Given the description of an element on the screen output the (x, y) to click on. 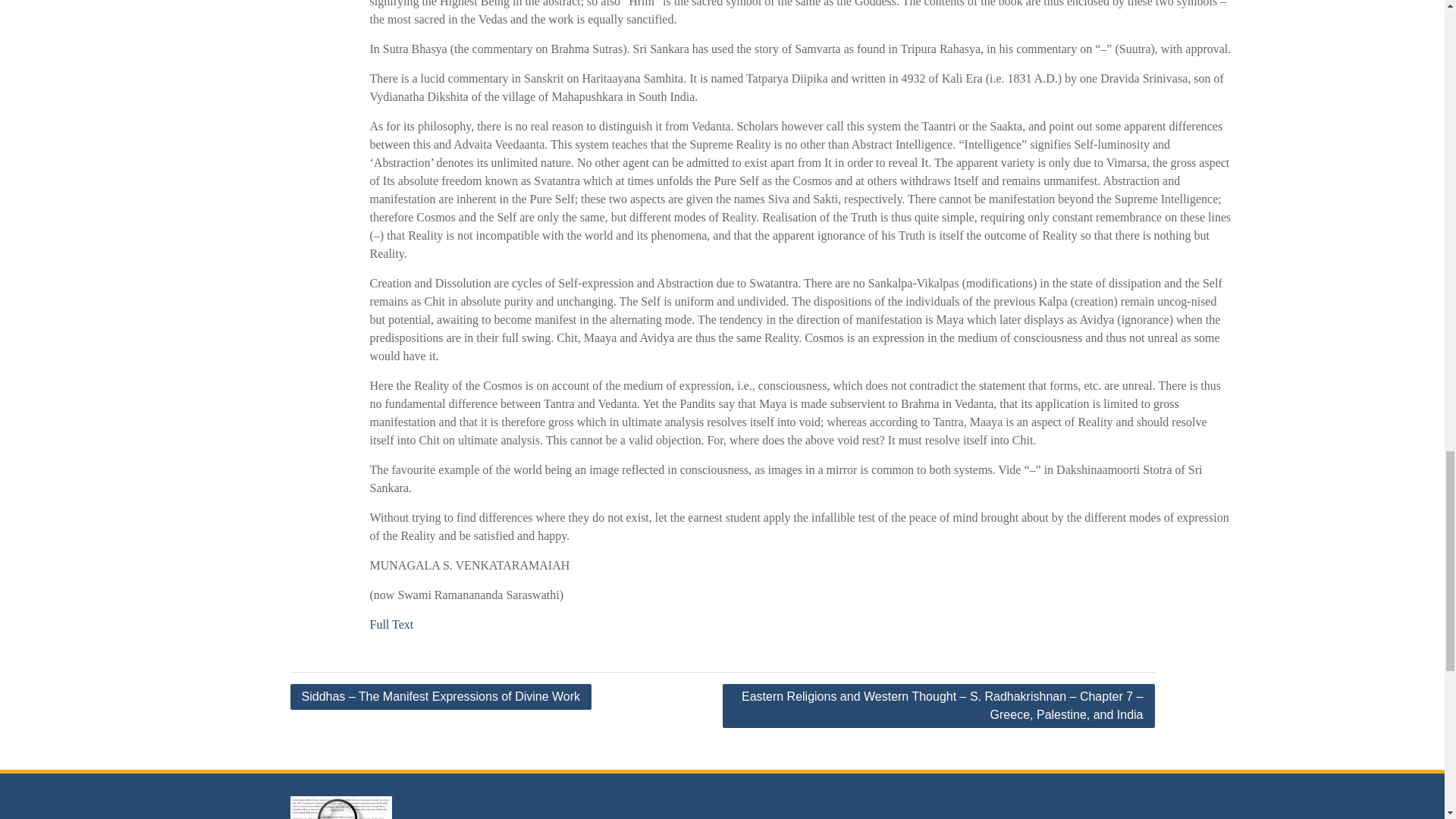
Full Text (391, 624)
